Given the description of an element on the screen output the (x, y) to click on. 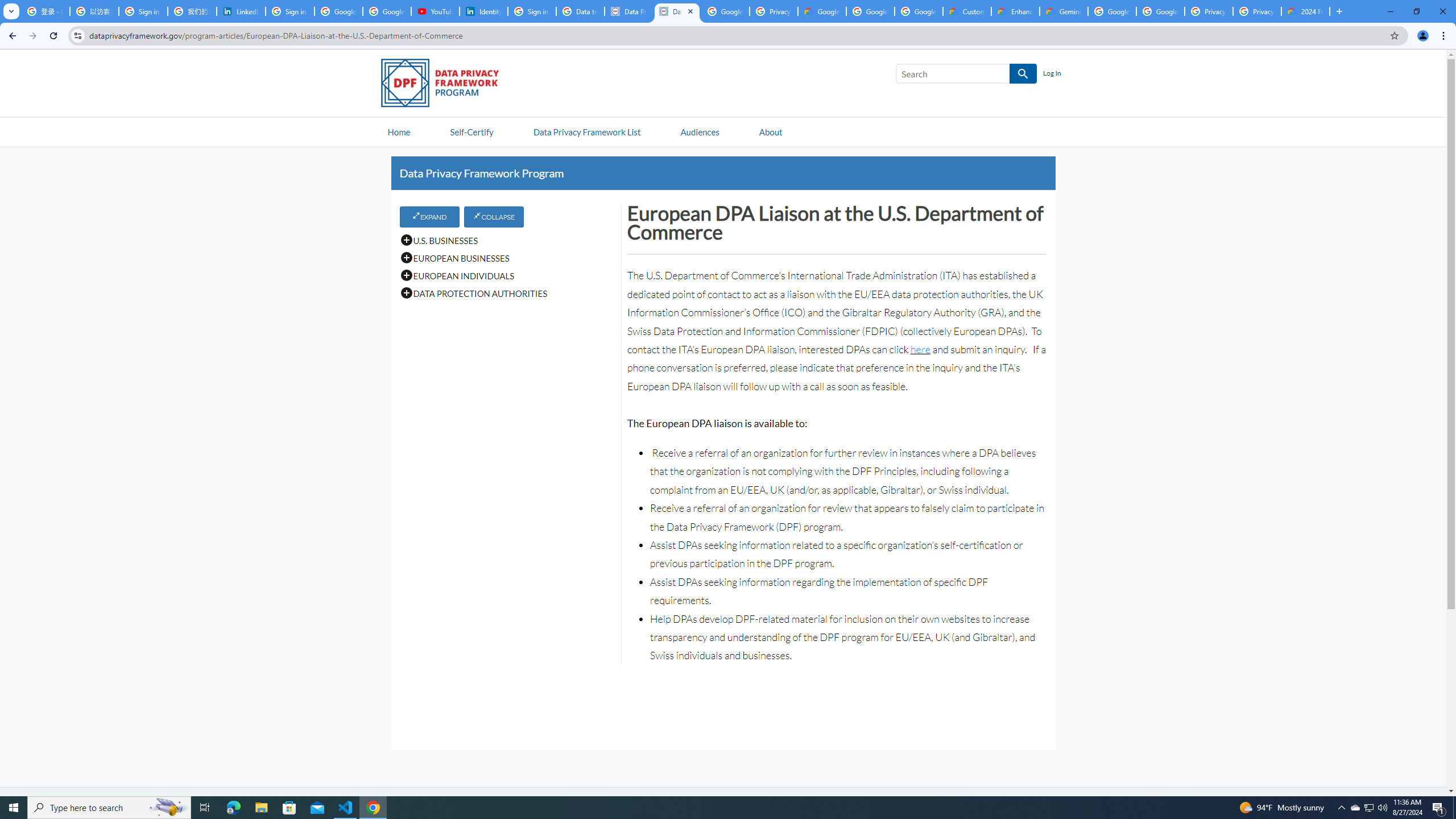
Data Privacy Framework (628, 11)
Google Cloud Platform (1160, 11)
LinkedIn Privacy Policy (240, 11)
here (920, 349)
AutomationID: navitem2 (769, 131)
